Given the description of an element on the screen output the (x, y) to click on. 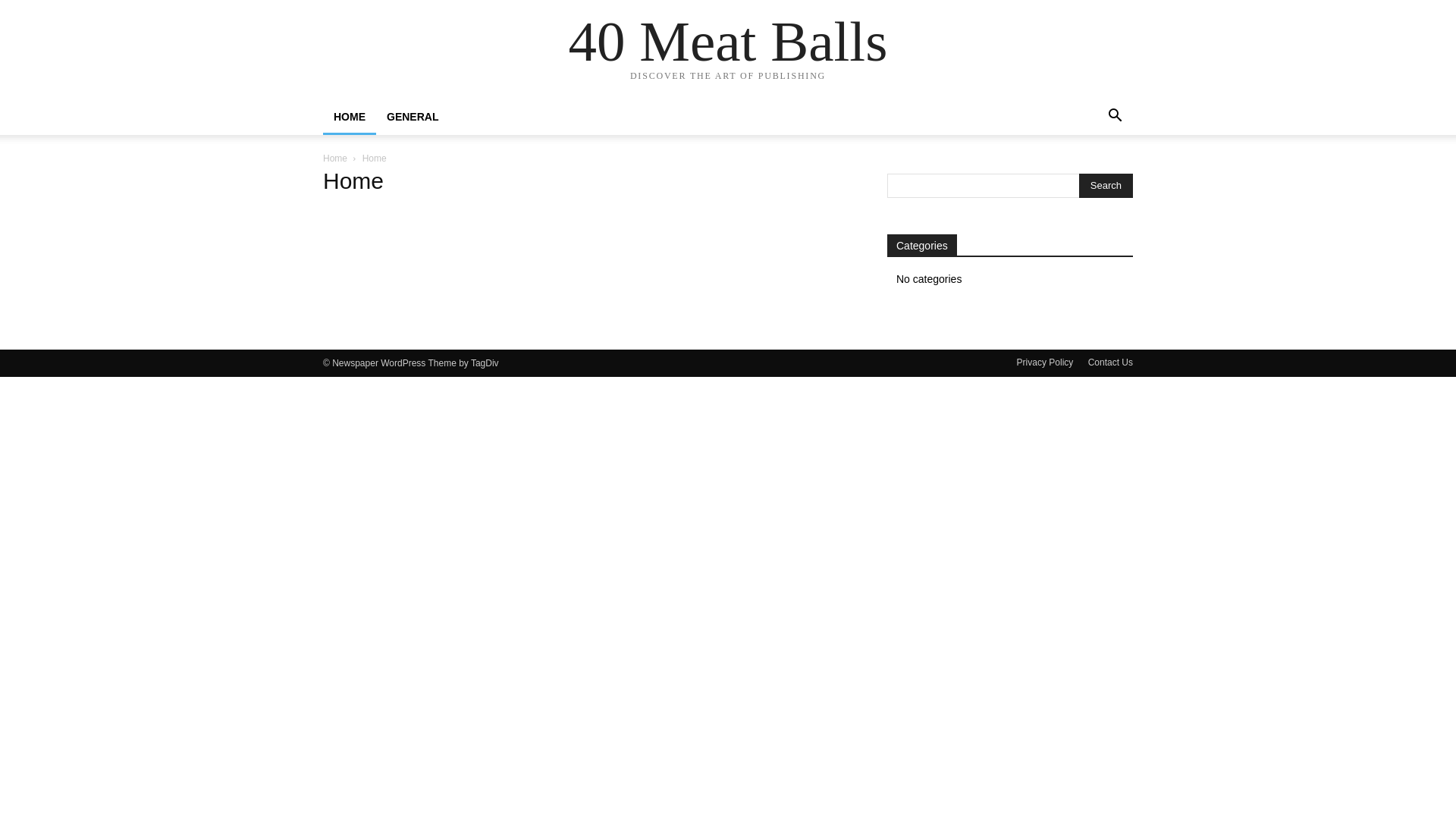
GENERAL Element type: text (412, 116)
Contact Us Element type: text (1110, 362)
Search Element type: text (1090, 177)
Privacy Policy Element type: text (1044, 362)
40 Meat Balls Element type: text (728, 40)
Search Element type: text (1105, 185)
HOME Element type: text (349, 116)
Home Element type: text (335, 158)
